Given the description of an element on the screen output the (x, y) to click on. 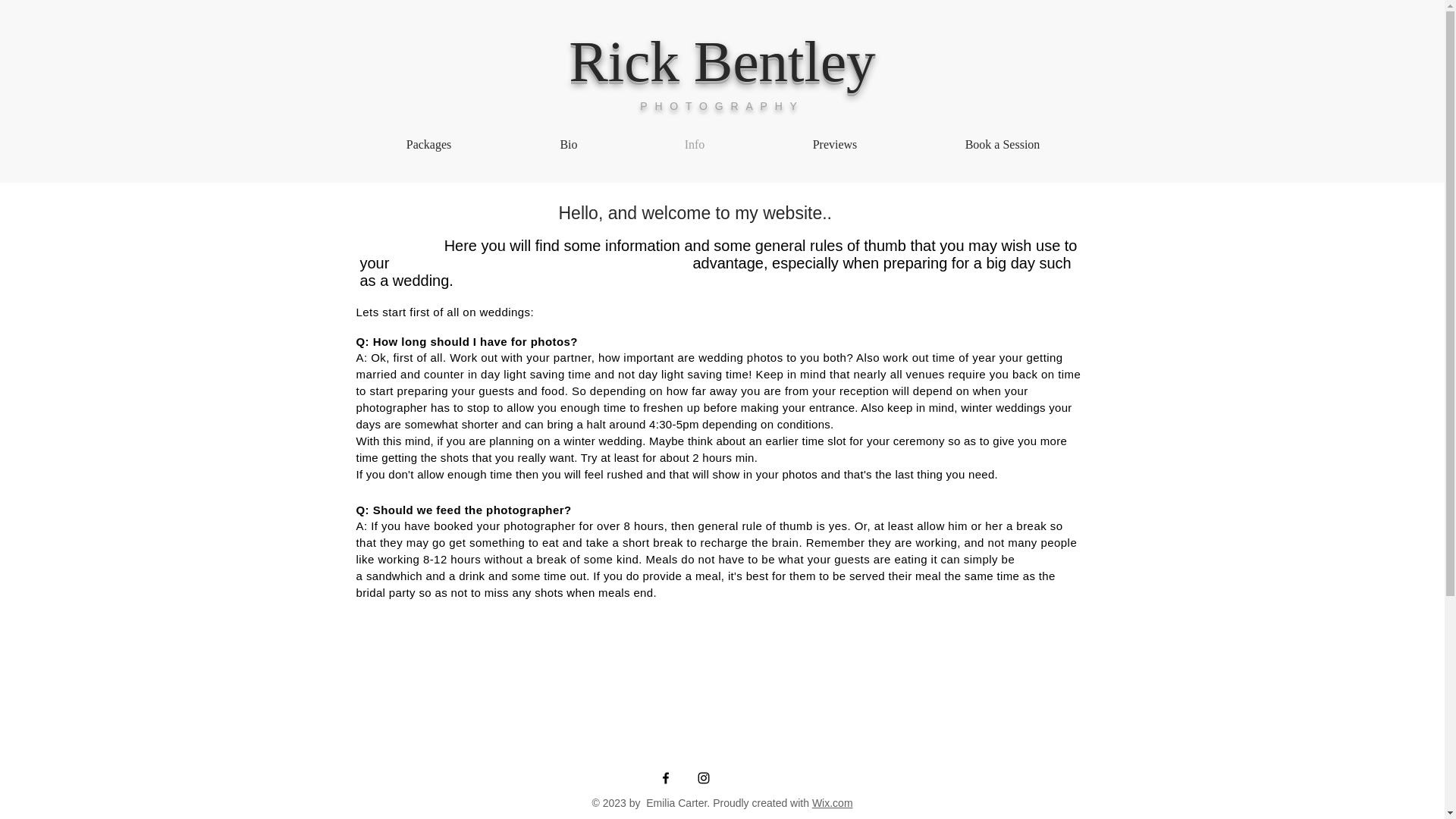
Book a Session (1002, 143)
Packages (428, 143)
Bio (568, 143)
Rick Bentley (722, 61)
PHOTOGRAPHY (721, 105)
Previews (834, 143)
Info (694, 143)
Wix.com (832, 802)
